Given the description of an element on the screen output the (x, y) to click on. 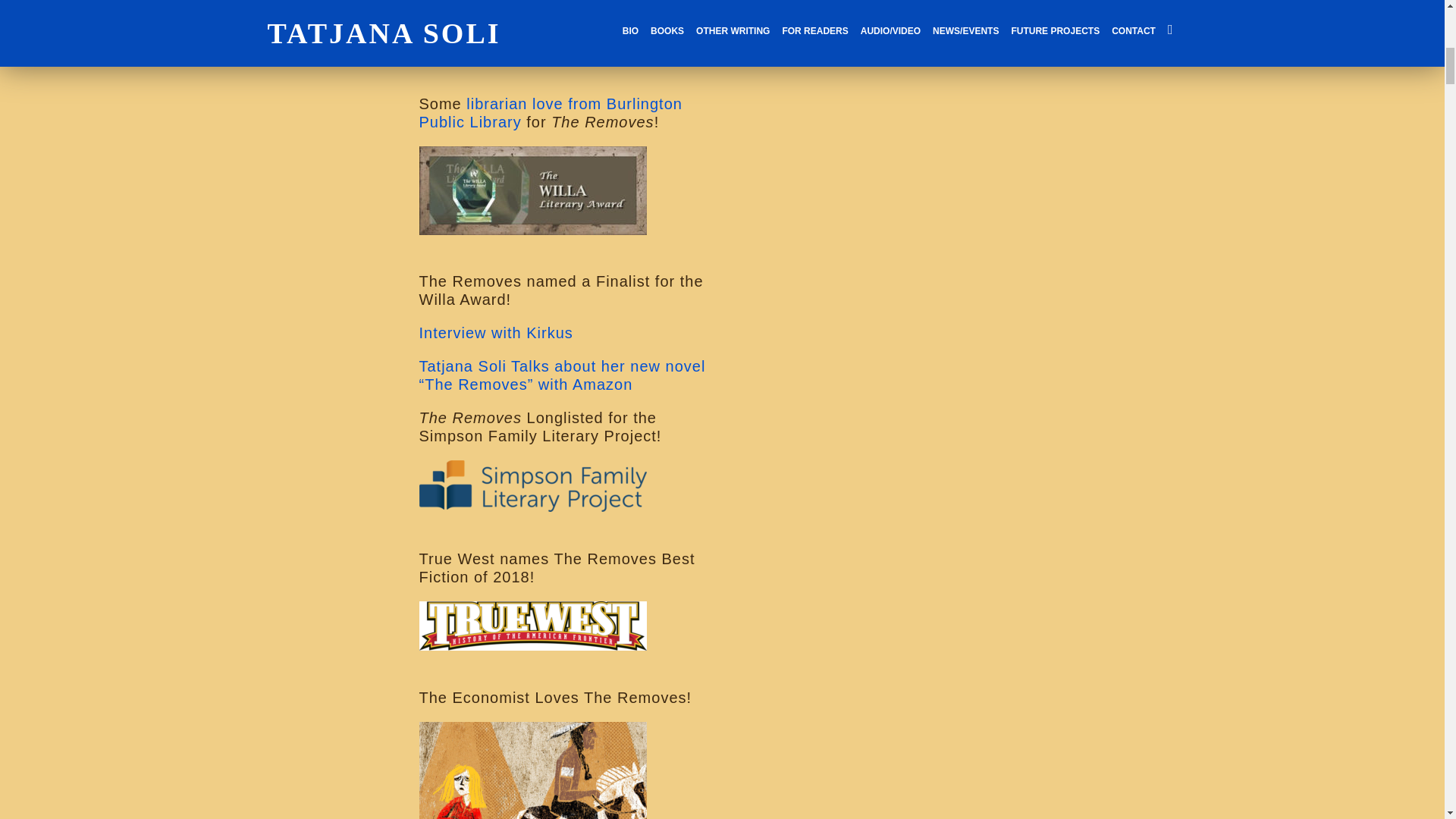
Interview with Kirkus (495, 332)
librarian love from Burlington Public Library (550, 112)
